Given the description of an element on the screen output the (x, y) to click on. 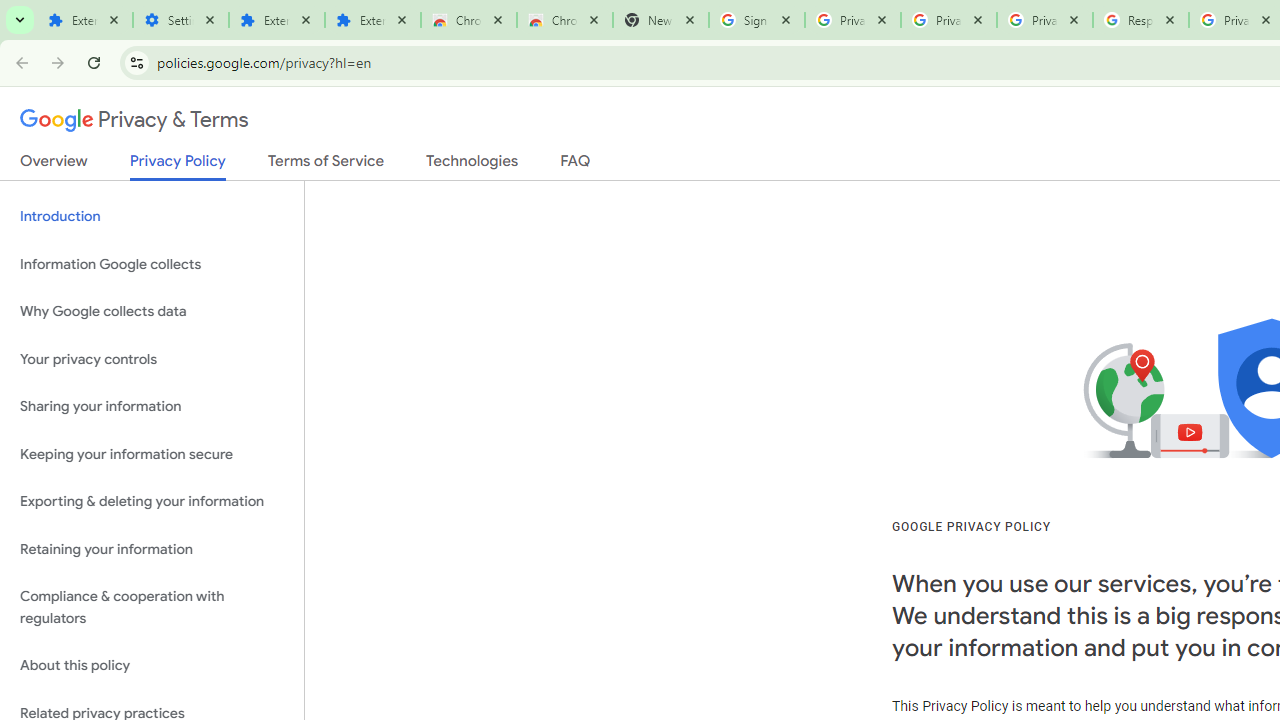
Chrome Web Store - Themes (565, 20)
